Given the description of an element on the screen output the (x, y) to click on. 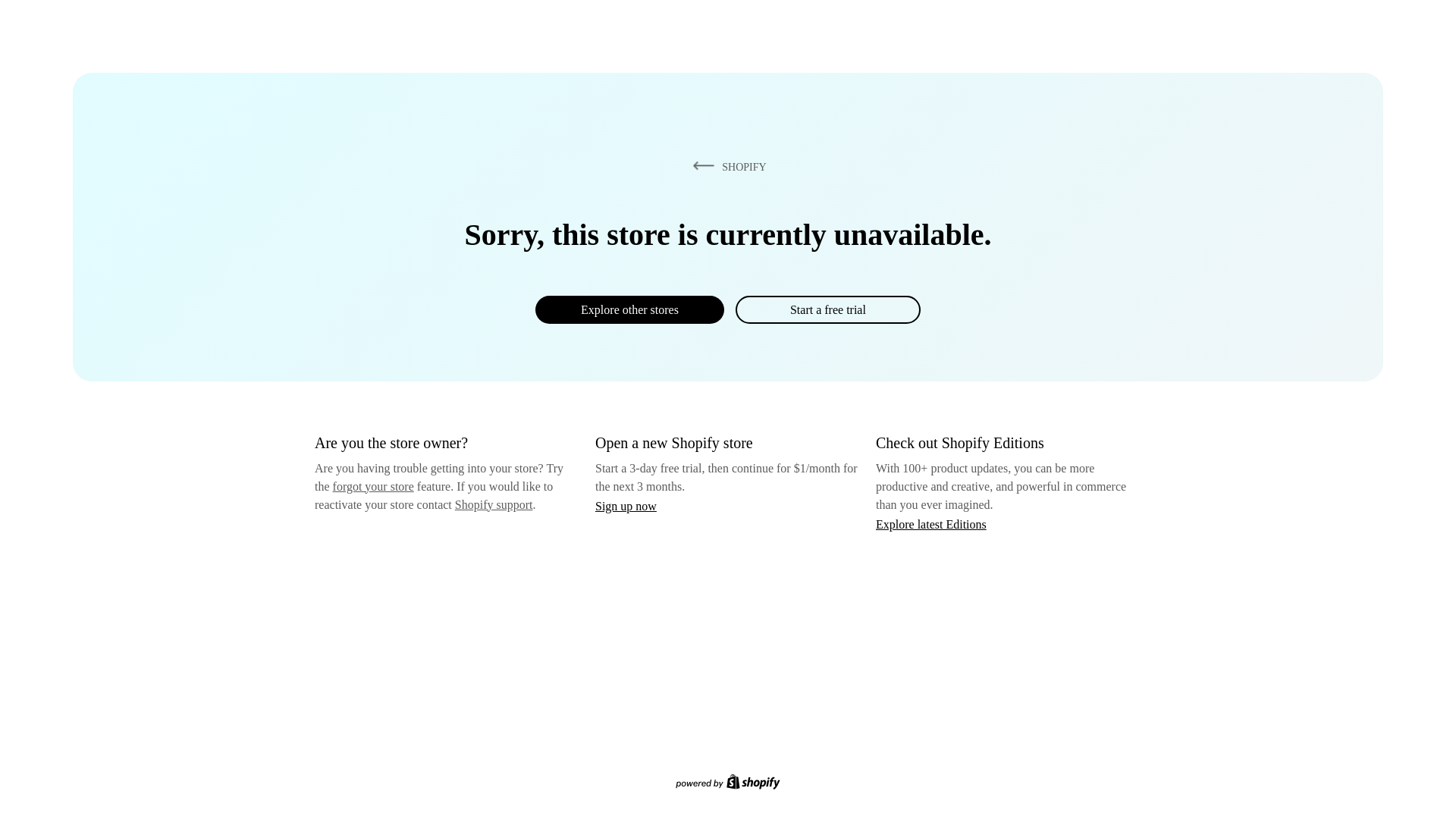
Sign up now (625, 505)
Explore other stores (629, 309)
Shopify support (493, 504)
SHOPIFY (726, 166)
forgot your store (373, 486)
Explore latest Editions (931, 523)
Start a free trial (827, 309)
